Given the description of an element on the screen output the (x, y) to click on. 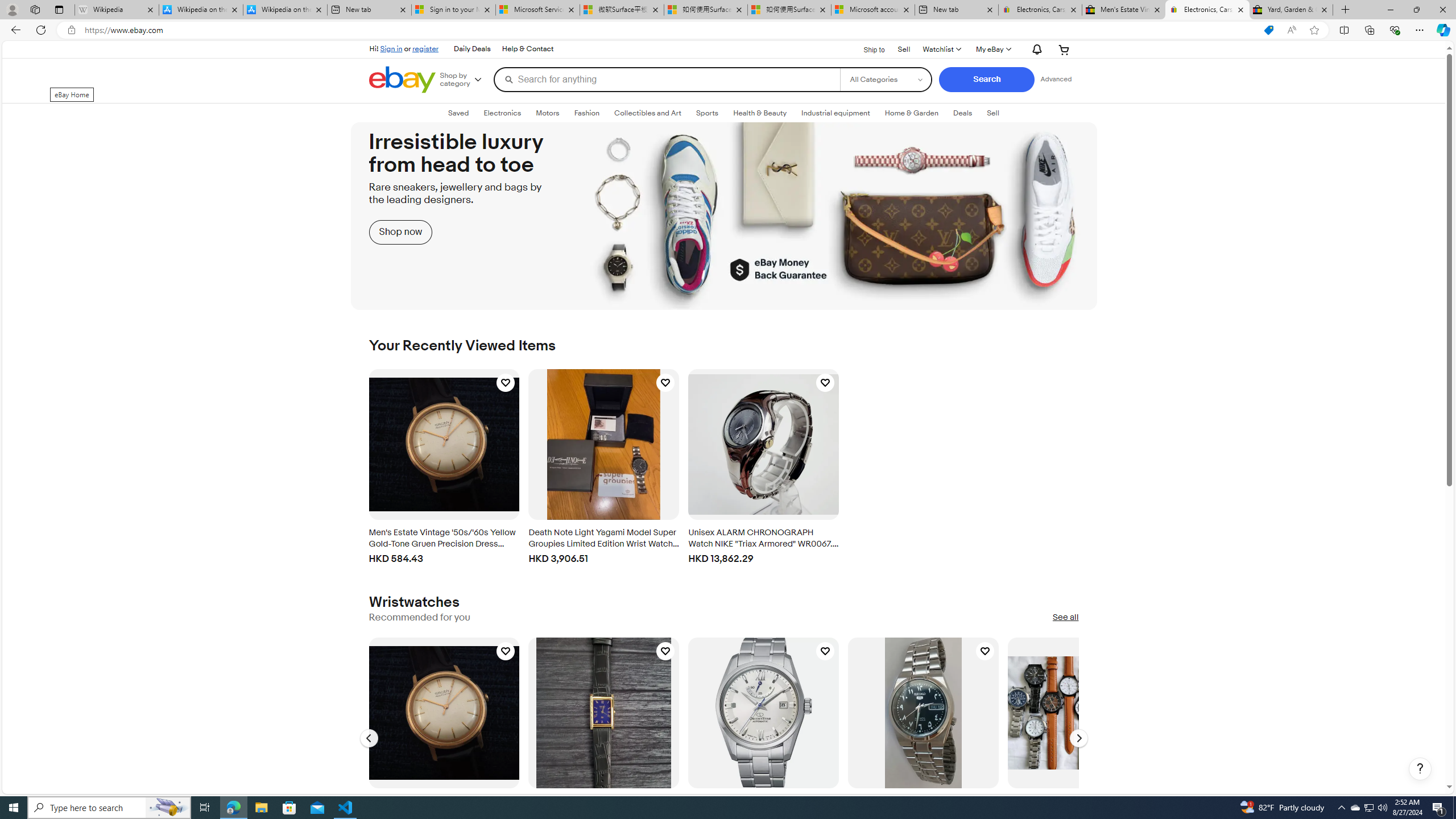
Electronics, Cars, Fashion, Collectibles & More | eBay (1206, 9)
AutomationID: gh-eb-Alerts (1035, 49)
SportsExpand: Sports (707, 112)
Home & GardenExpand: Home & Garden (911, 112)
Microsoft Services Agreement (537, 9)
FashionExpand: Fashion (586, 112)
